Given the description of an element on the screen output the (x, y) to click on. 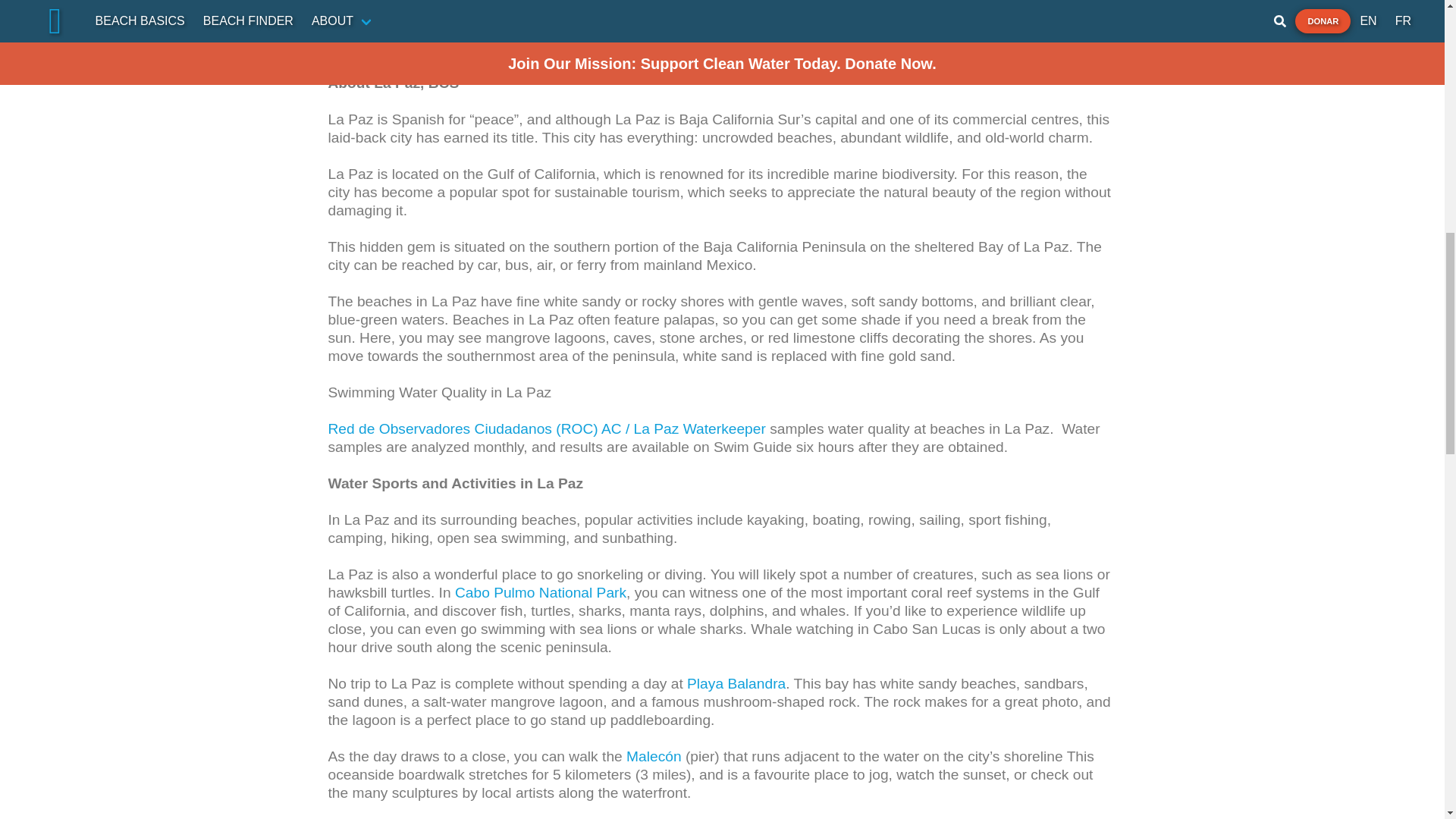
Photo by Nathan Dugal (402, 46)
Cabo Pulmo National Park (540, 592)
Playa Balandra (736, 683)
